Given the description of an element on the screen output the (x, y) to click on. 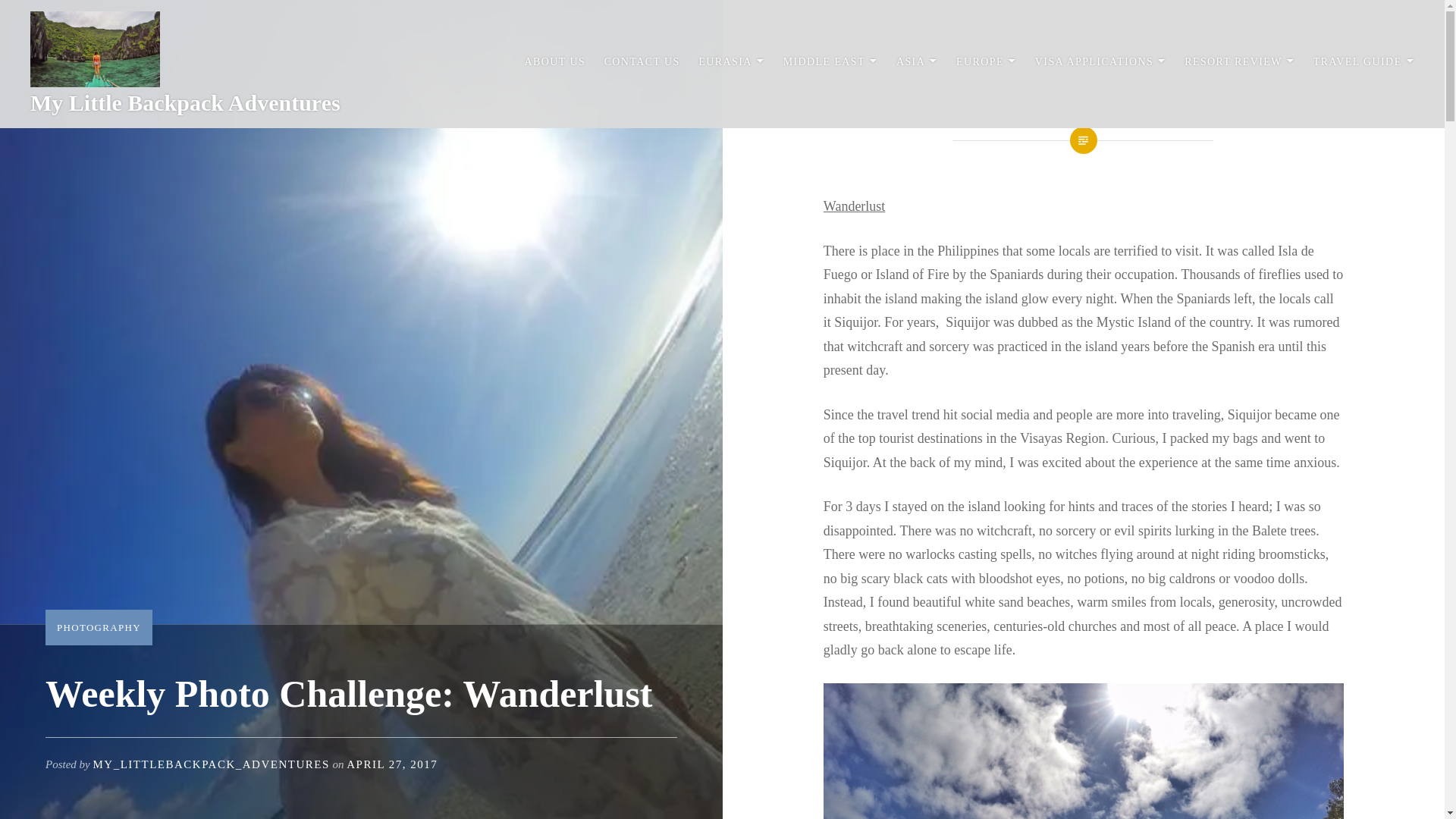
My Little Backpack Adventures (185, 102)
EURASIA (731, 62)
CONTACT US (641, 62)
ASIA (916, 62)
ABOUT US (555, 62)
MIDDLE EAST (830, 62)
